Given the description of an element on the screen output the (x, y) to click on. 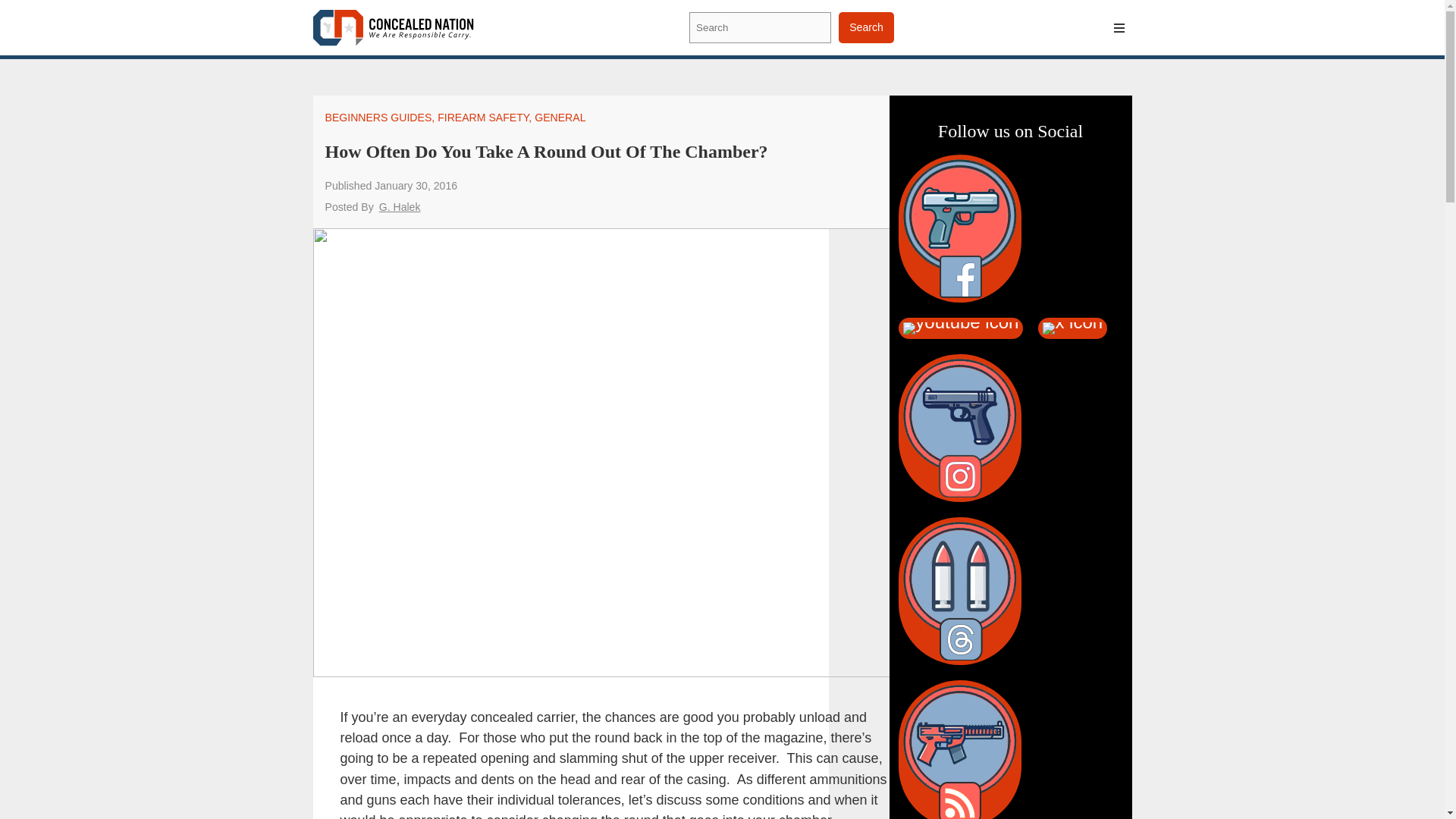
FIREARM SAFETY (483, 117)
BEGINNERS GUIDES (377, 117)
G. Halek (399, 206)
GENERAL (559, 117)
Search (865, 27)
